Given the description of an element on the screen output the (x, y) to click on. 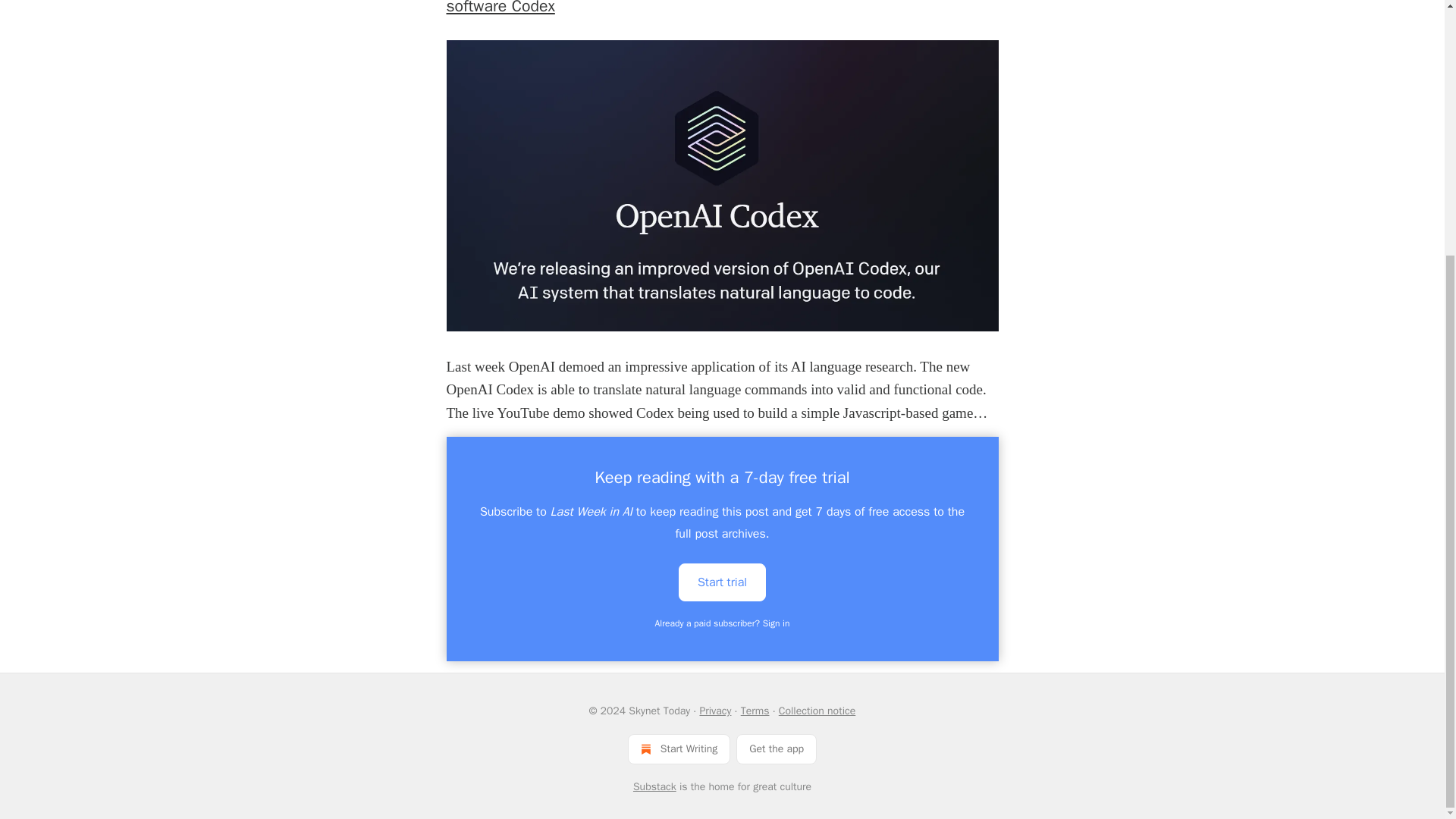
Start trial (721, 582)
Privacy (714, 710)
Get the app (776, 748)
Already a paid subscriber? Sign in (722, 623)
Terms (755, 710)
Collection notice (817, 710)
Start trial (721, 581)
Start Writing (678, 748)
Substack (655, 786)
